Given the description of an element on the screen output the (x, y) to click on. 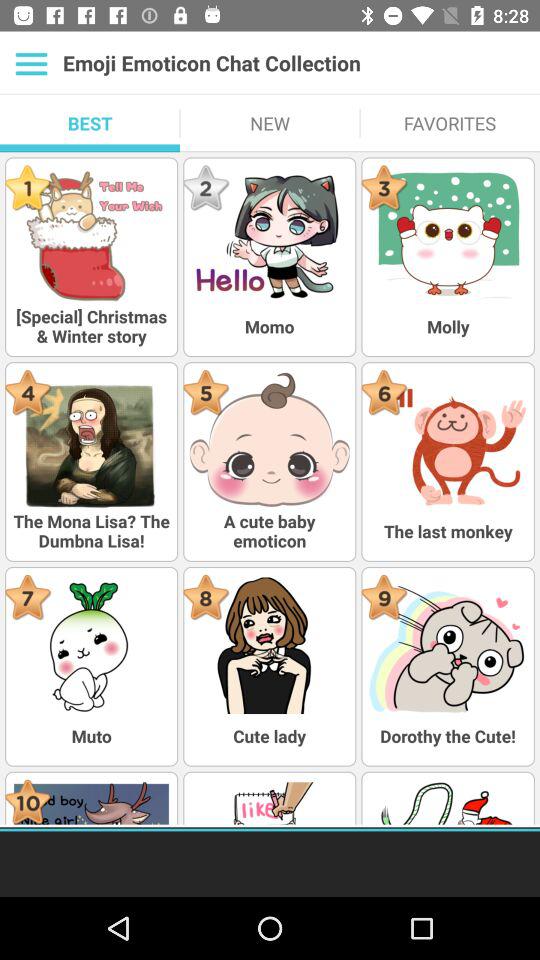
press item below emoji emoticon chat icon (450, 123)
